Given the description of an element on the screen output the (x, y) to click on. 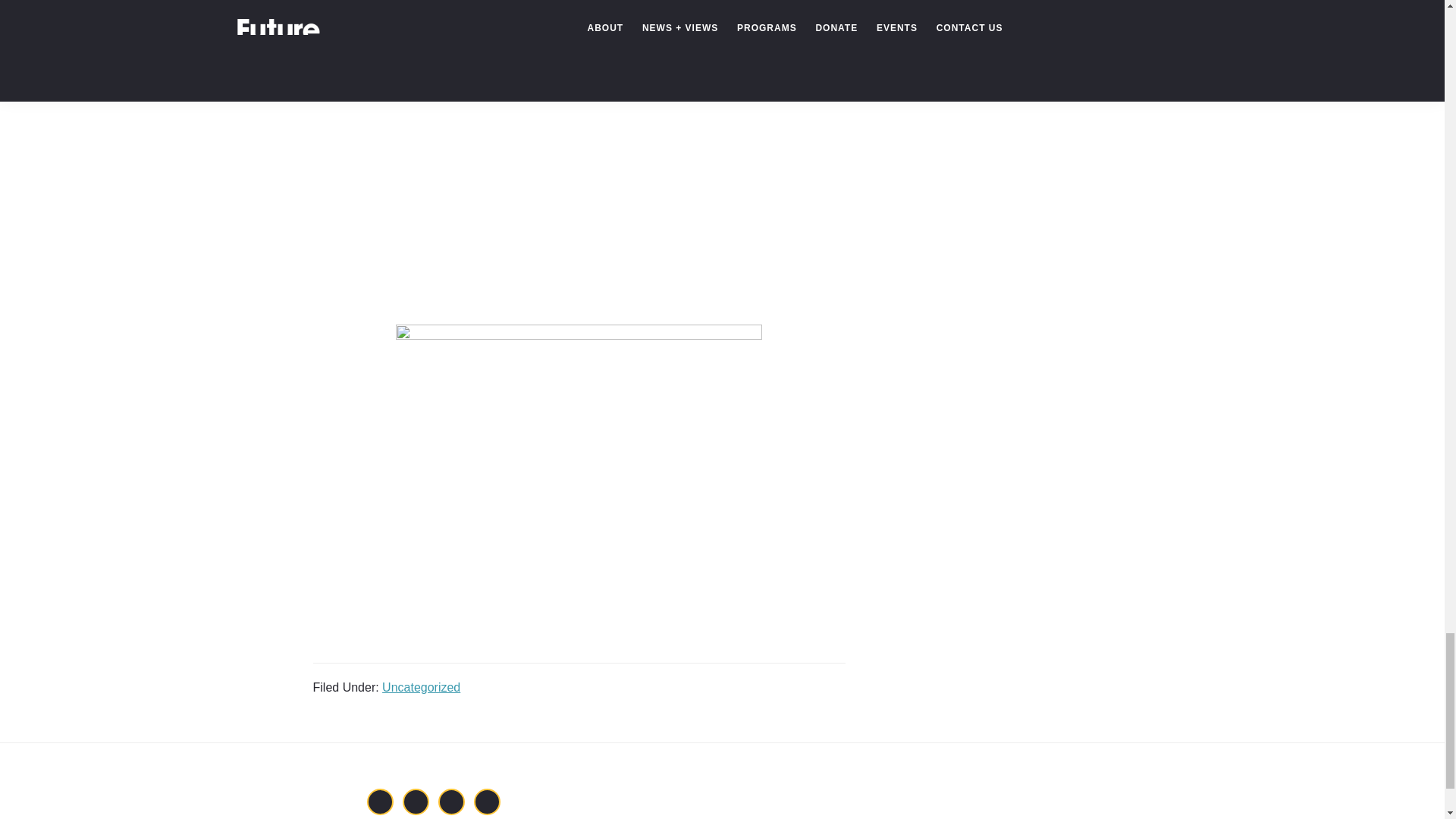
Uncategorized (420, 686)
